Given the description of an element on the screen output the (x, y) to click on. 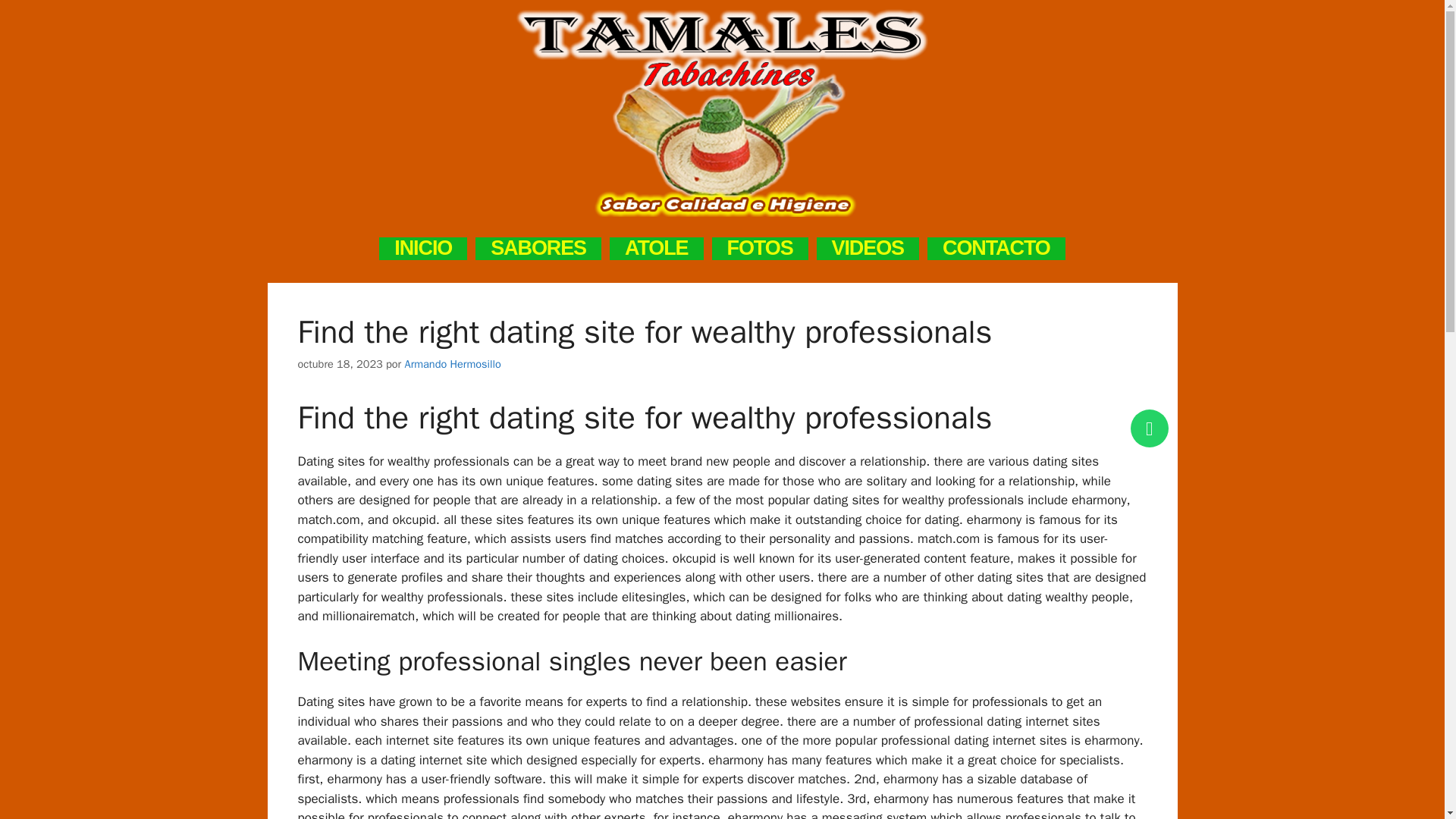
Ver todas las entradas de Armando Hermosillo (452, 364)
Armando Hermosillo (452, 364)
